Given the description of an element on the screen output the (x, y) to click on. 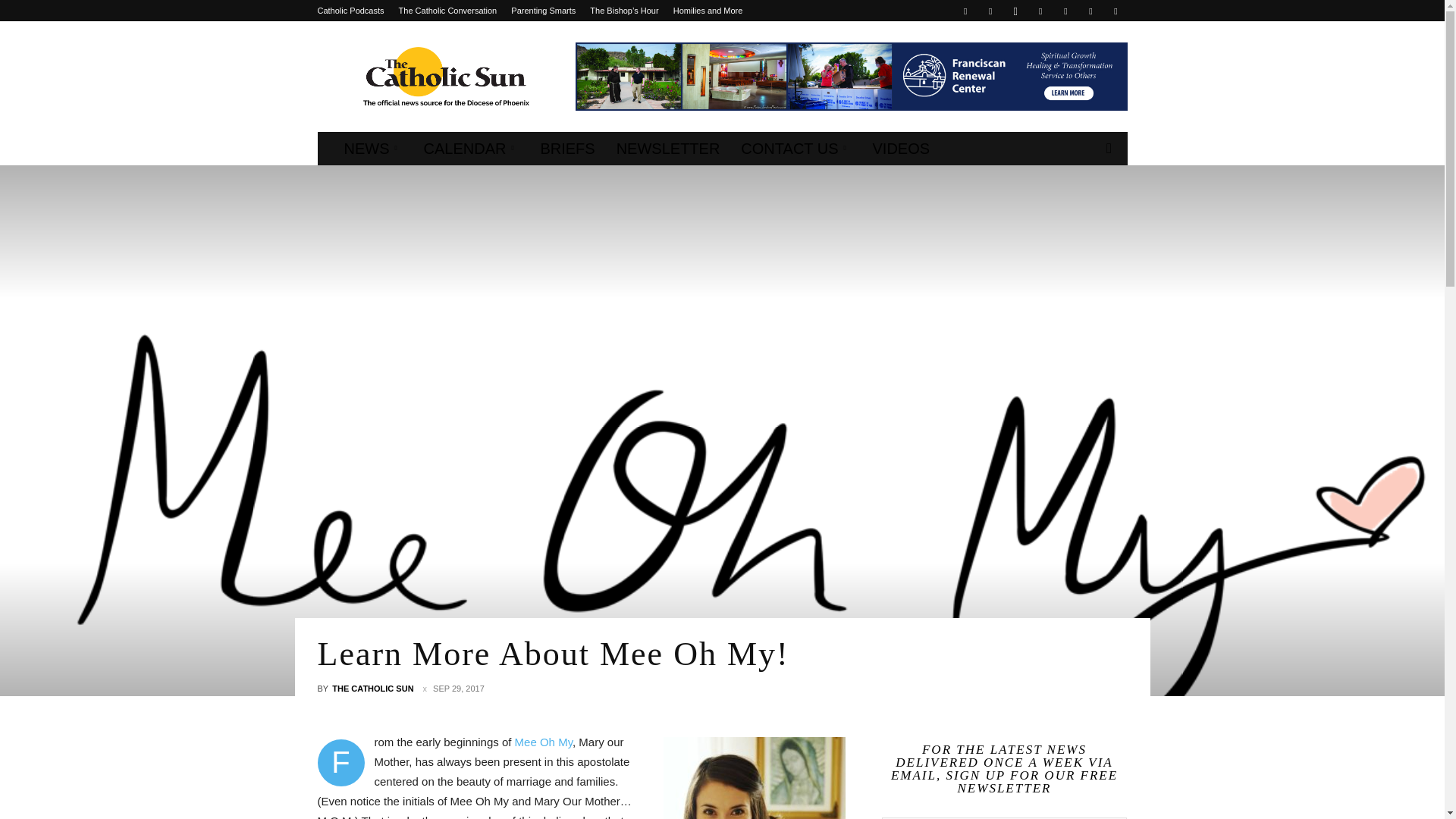
NEWS (373, 148)
The Catholic Conversation (447, 10)
Facebook (964, 10)
Parenting Smarts (543, 10)
Vimeo (1090, 10)
Catholic Podcasts (350, 10)
Linkedin (1040, 10)
Homilies and More (707, 10)
Twitter (1065, 10)
Flickr (989, 10)
Instagram (1015, 10)
